Given the description of an element on the screen output the (x, y) to click on. 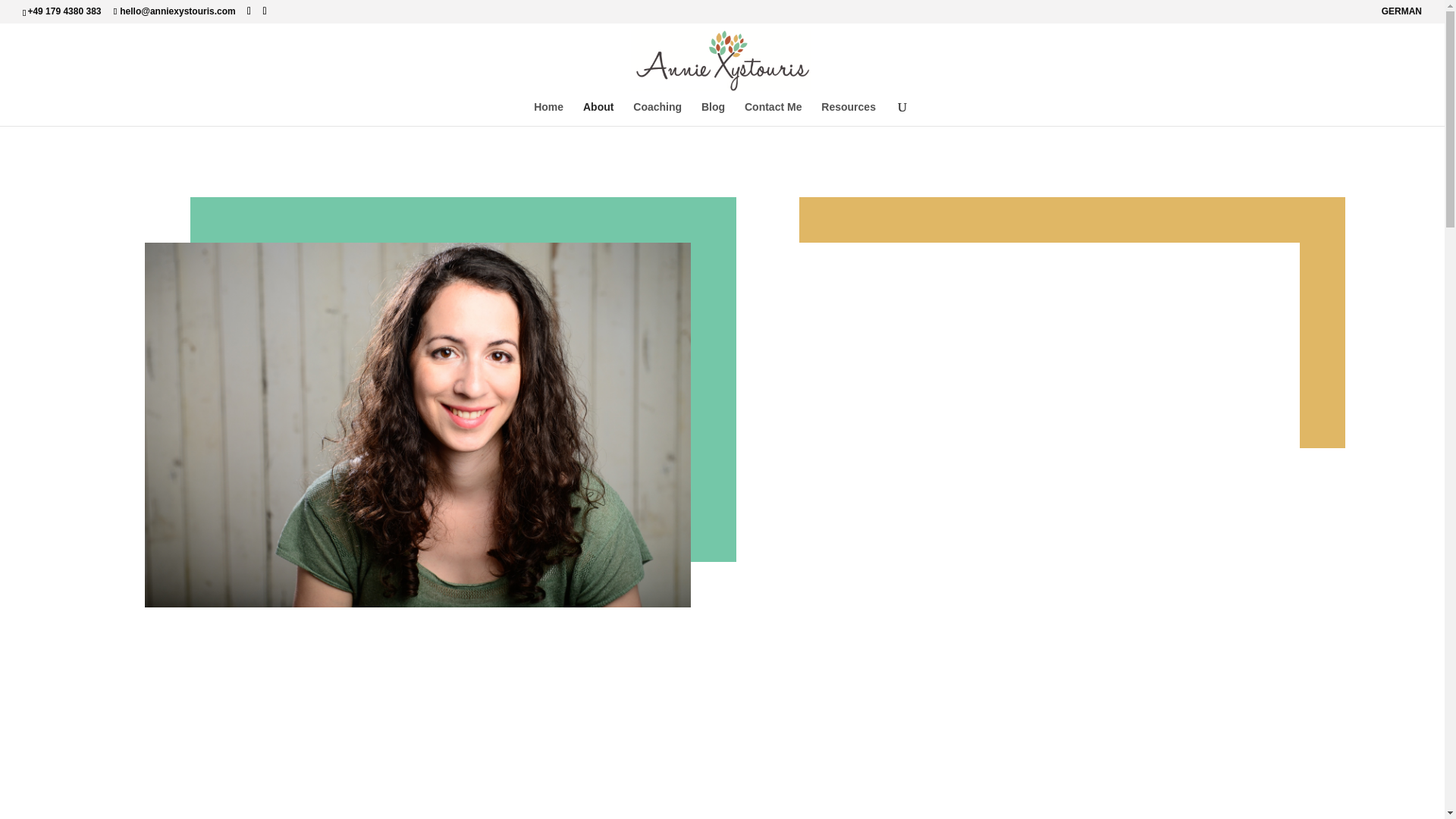
Resources (848, 113)
Blog (713, 113)
Coaching (657, 113)
About (597, 113)
Contact Me (773, 113)
GERMAN (1401, 14)
Home (548, 113)
